Given the description of an element on the screen output the (x, y) to click on. 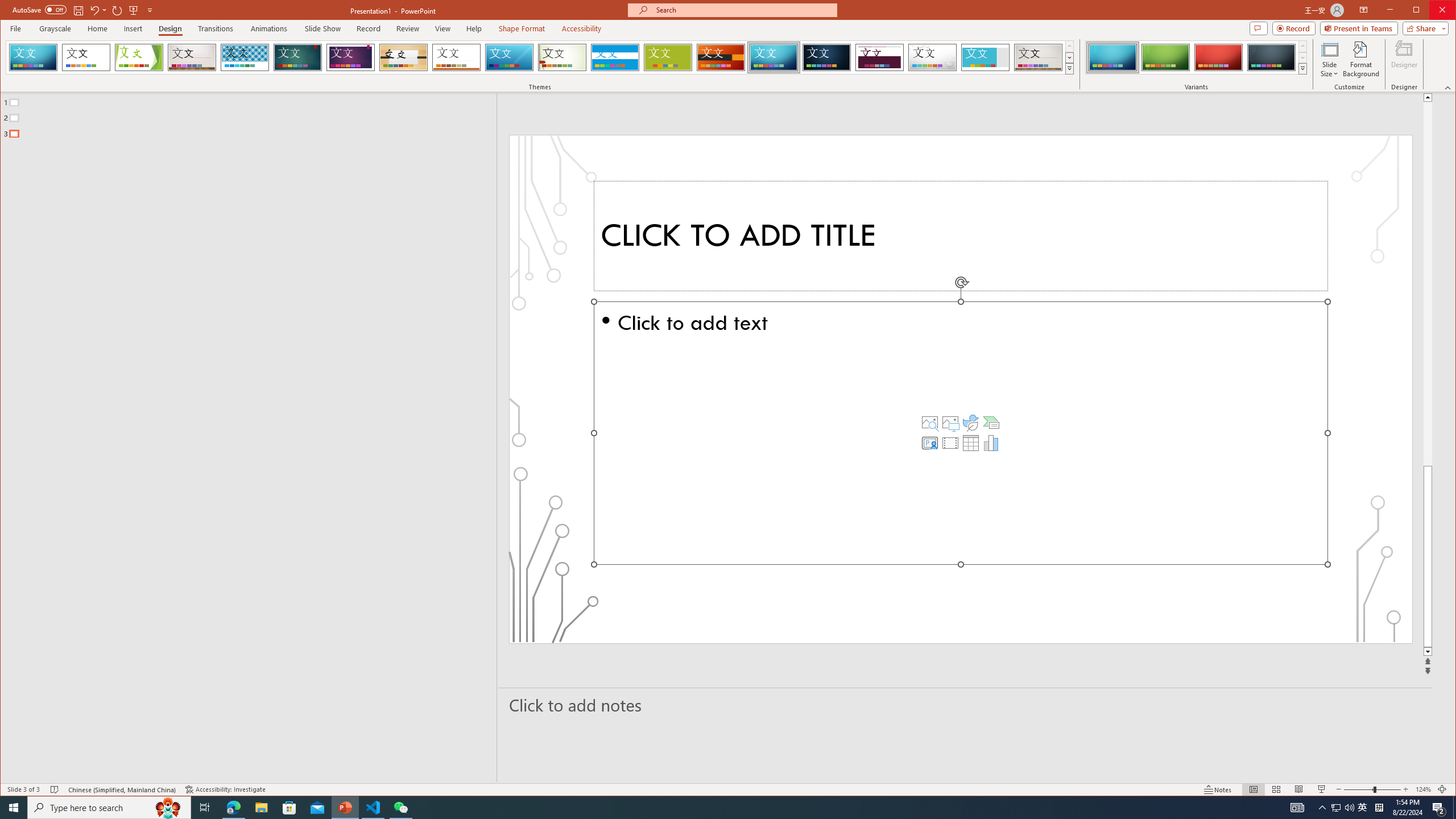
Page up (1427, 283)
View (443, 28)
